Given the description of an element on the screen output the (x, y) to click on. 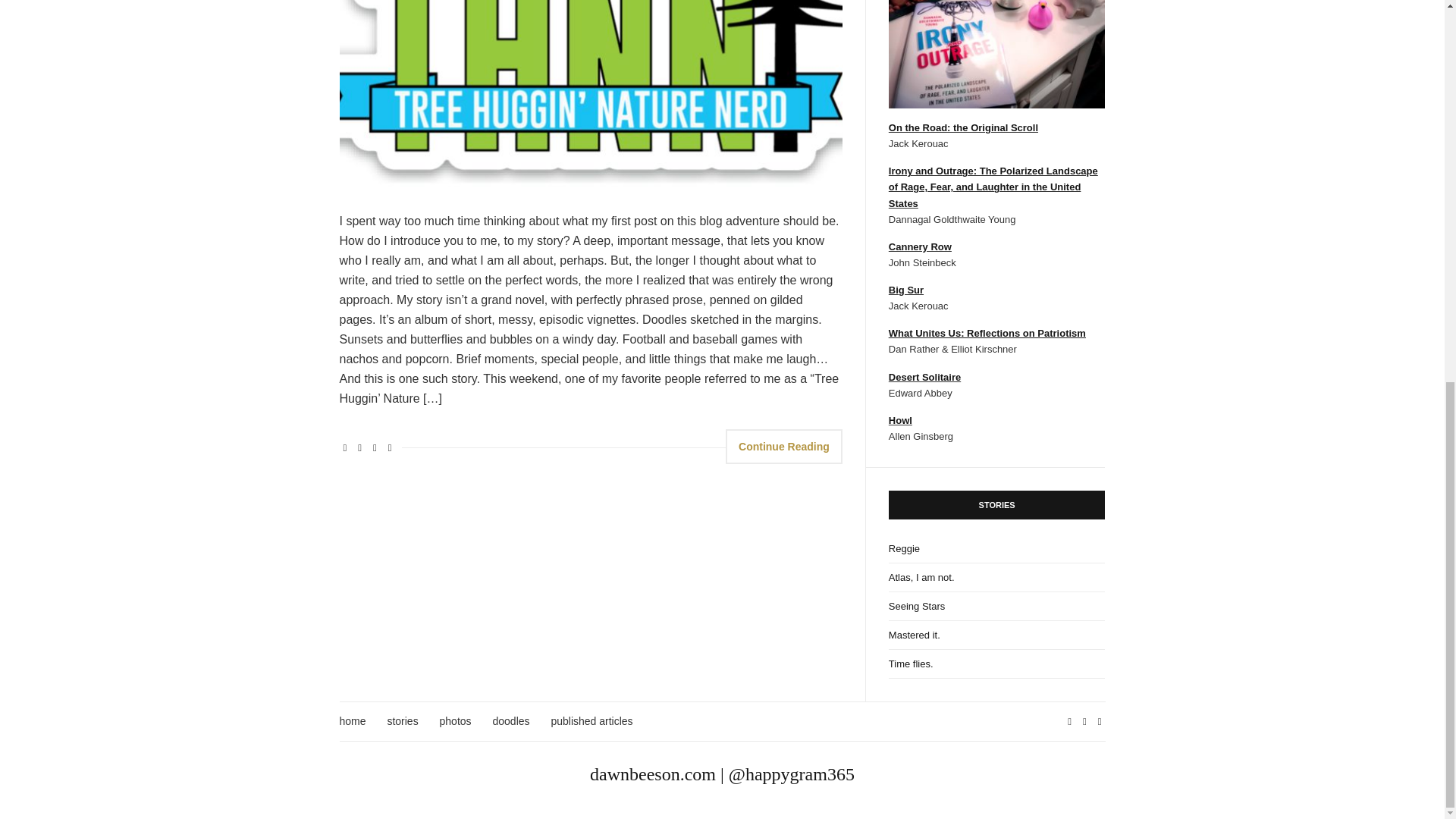
Howl (900, 419)
Time flies. (996, 664)
Seeing Stars (996, 606)
Atlas, I am not. (996, 577)
Reggie (996, 548)
Mastered it. (996, 635)
Desert Solitaire (924, 377)
Cannery Row (920, 246)
What Unites Us: Reflections on Patriotism (987, 333)
